Given the description of an element on the screen output the (x, y) to click on. 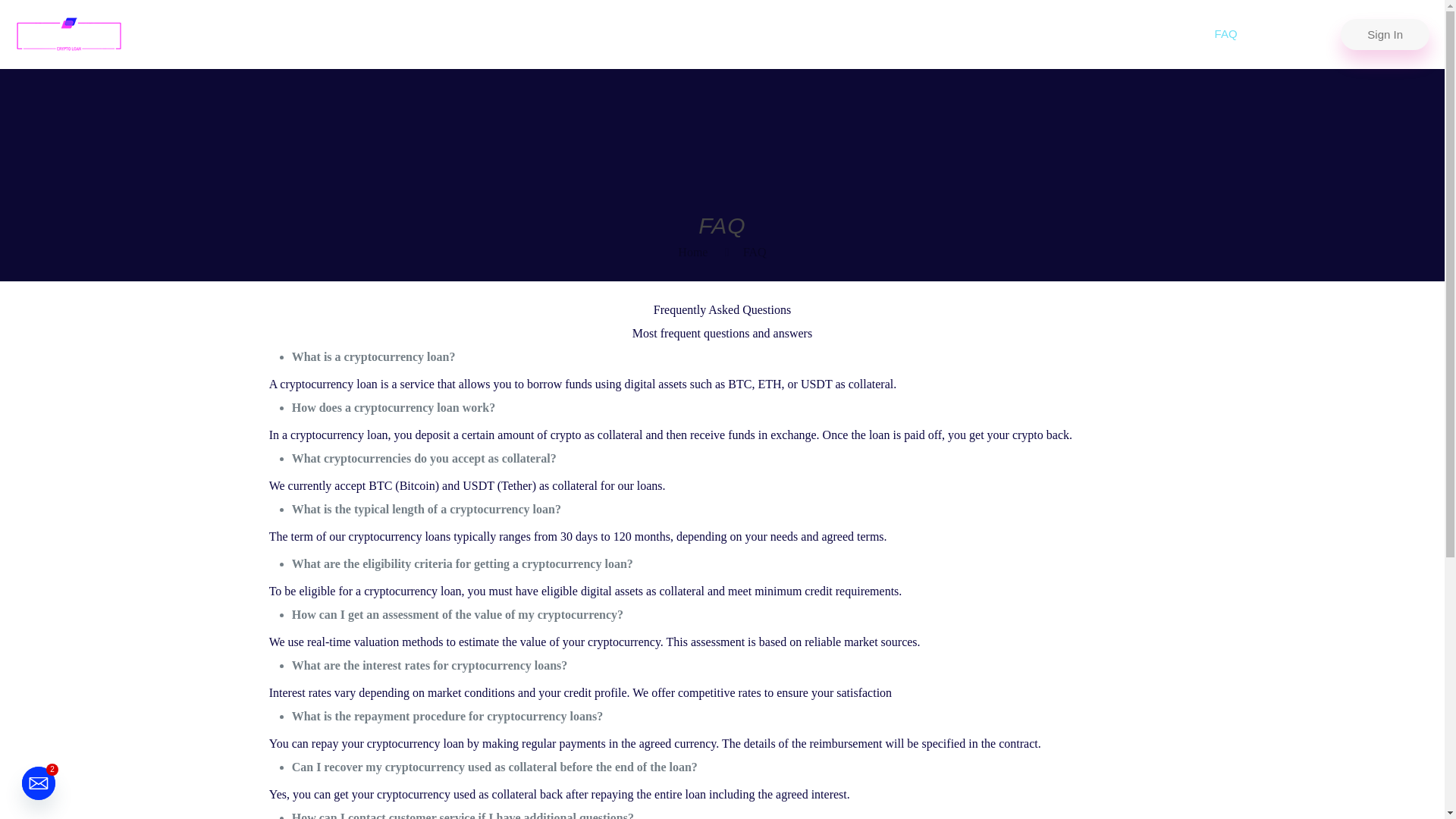
Sign In (1384, 33)
Borrow now (1153, 33)
Home (1002, 33)
Crypto Loan (68, 33)
Contact (1287, 33)
2 (38, 783)
About us (1070, 33)
Home (692, 251)
